Given the description of an element on the screen output the (x, y) to click on. 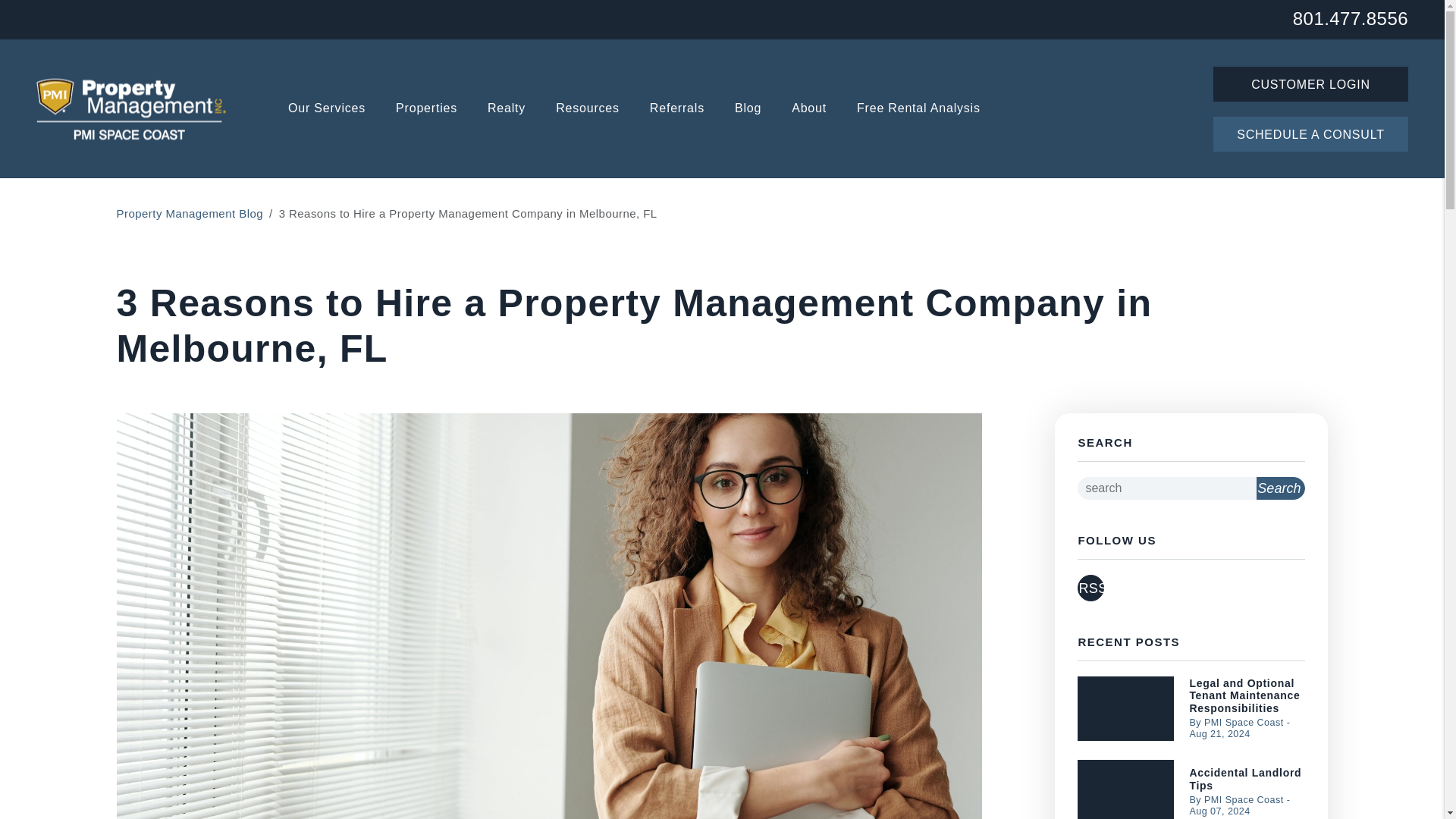
CUSTOMER LOGIN (1309, 83)
opens in a new window (1090, 587)
Properties (426, 108)
Realty (506, 108)
SCHEDULE A CONSULT (1309, 134)
Resources (588, 108)
Our Services (326, 108)
At least 3 characters (1166, 487)
801.477.8556 (1349, 17)
